Given the description of an element on the screen output the (x, y) to click on. 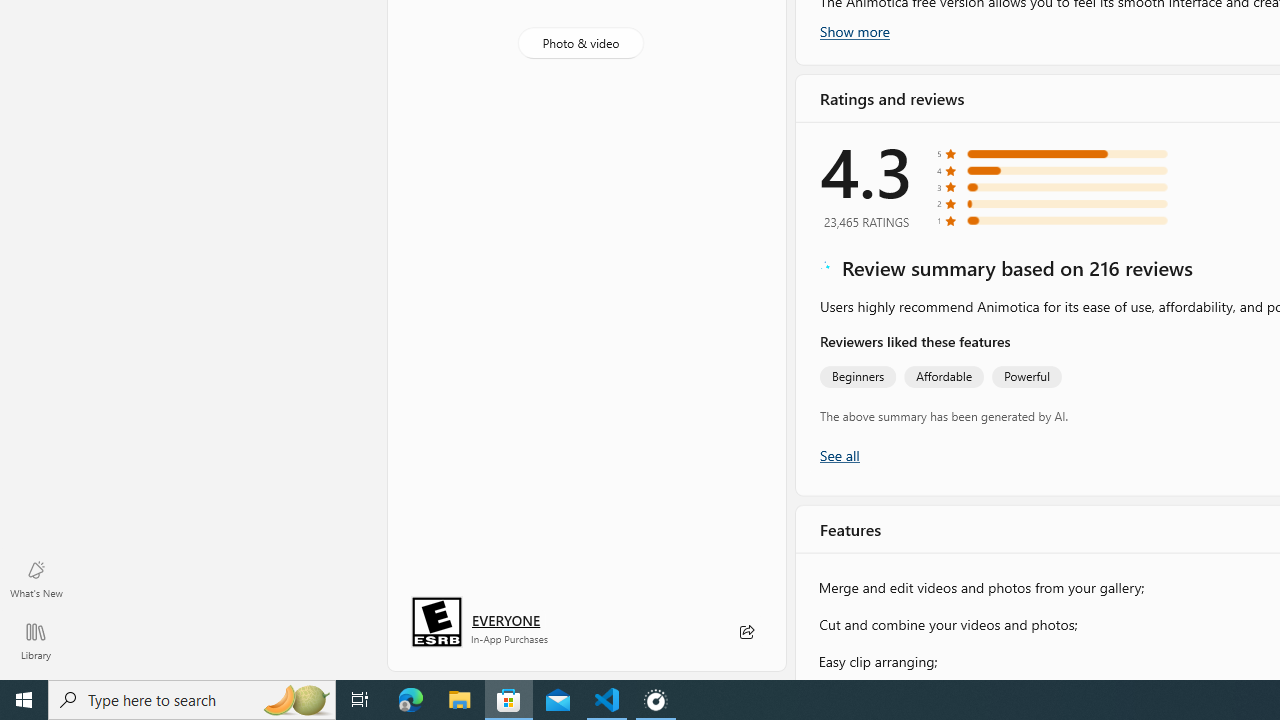
Show all ratings and reviews (838, 454)
Library (35, 640)
Show more (854, 31)
Share (746, 632)
What's New (35, 578)
Photo & video (579, 43)
Age rating: EVERYONE. Click for more information. (506, 619)
